Given the description of an element on the screen output the (x, y) to click on. 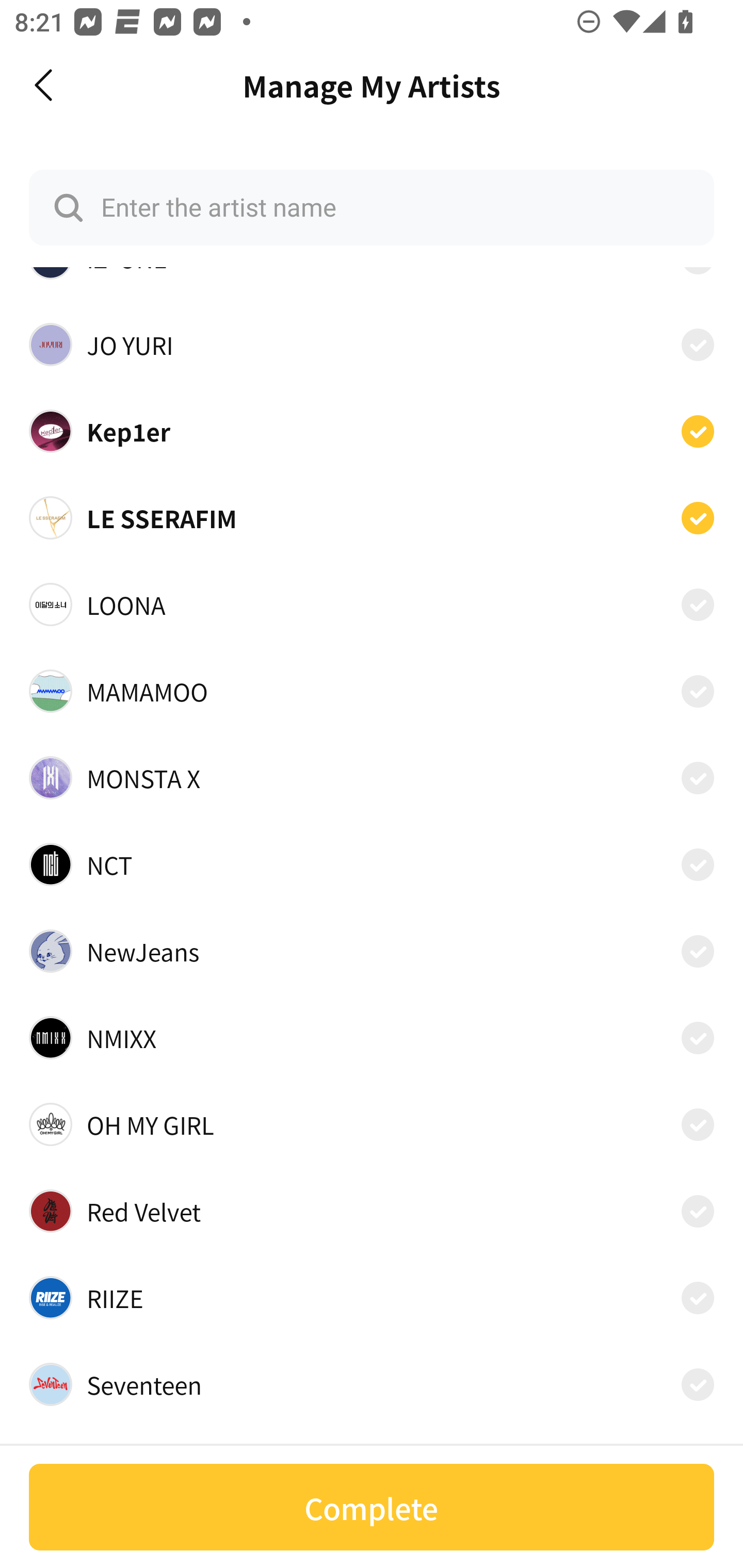
Enter the artist name (371, 207)
JO YURI (371, 344)
Kep1er (371, 431)
LE SSERAFIM (371, 517)
LOONA (371, 604)
MAMAMOO (371, 691)
MONSTA X (371, 777)
NCT (371, 864)
NewJeans (371, 950)
NMIXX (371, 1037)
OH MY GIRL (371, 1124)
Red Velvet (371, 1211)
RIIZE (371, 1297)
Seventeen (371, 1384)
Complete (371, 1507)
